Given the description of an element on the screen output the (x, y) to click on. 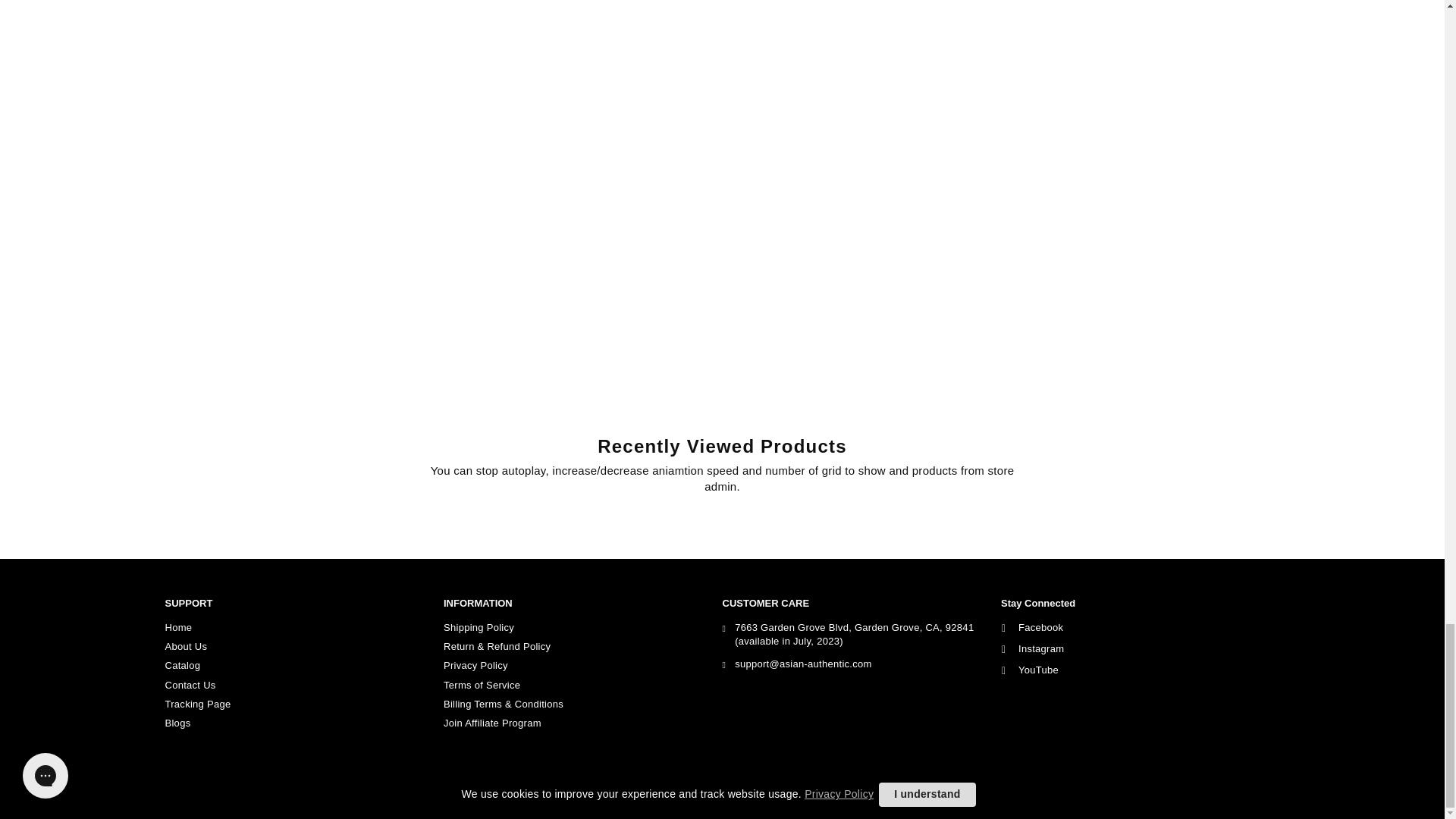
Venmo (1265, 794)
PayPal (1236, 794)
